Given the description of an element on the screen output the (x, y) to click on. 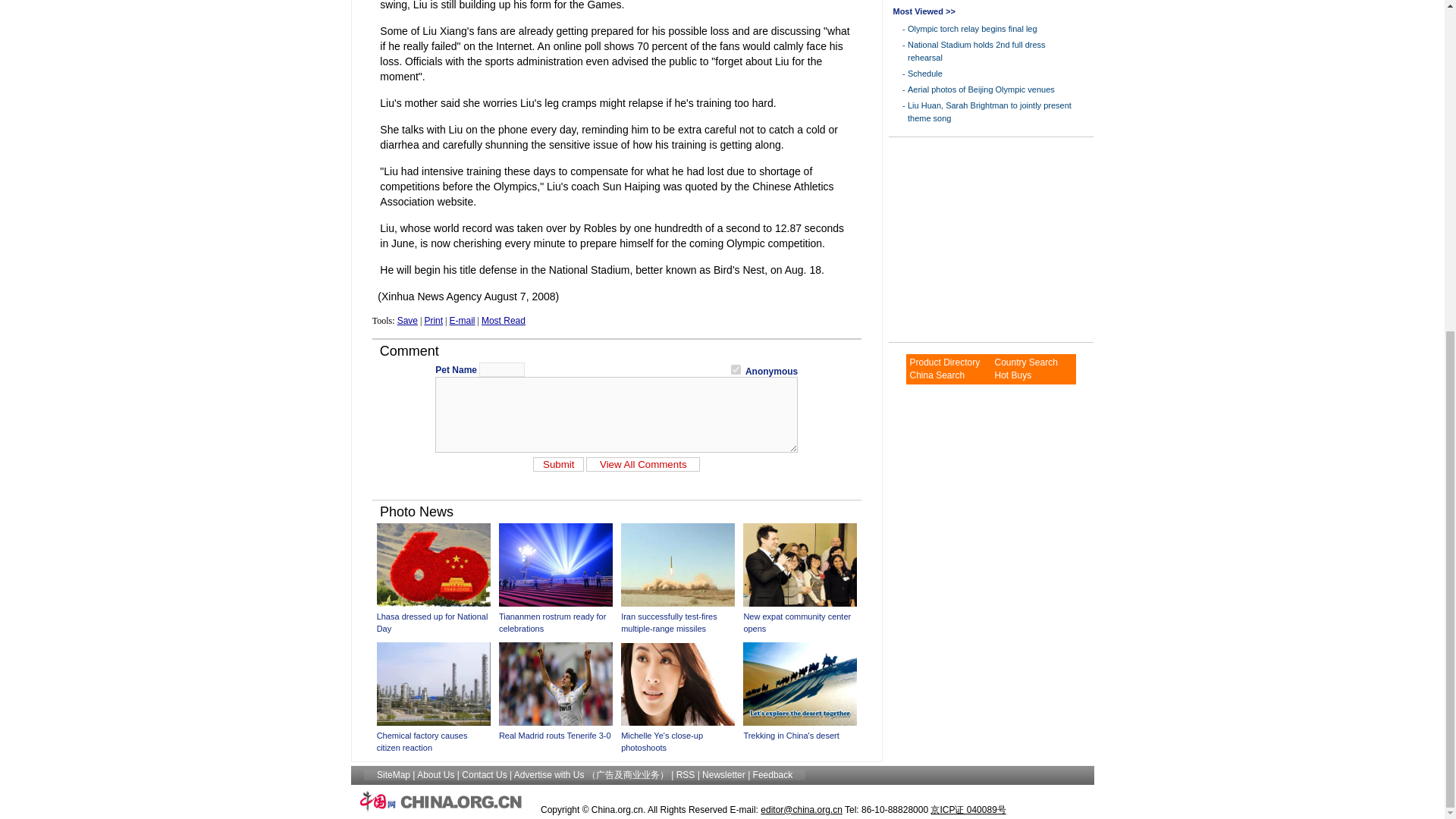
Olympic torch relay begins final leg (971, 28)
Liu Huan, Sarah Brightman to jointly present theme song (989, 111)
Schedule (924, 72)
Save (407, 320)
Alibaba Directory (943, 362)
Advertisement (983, 239)
Alibaba China (935, 375)
Print (432, 320)
View All Comments (643, 463)
1 (735, 369)
National Stadium holds 2nd full dress rehearsal (976, 51)
Most Read (503, 320)
Submit (557, 463)
E-mail (461, 320)
Aerial photos of Beijing Olympic venues (980, 89)
